Given the description of an element on the screen output the (x, y) to click on. 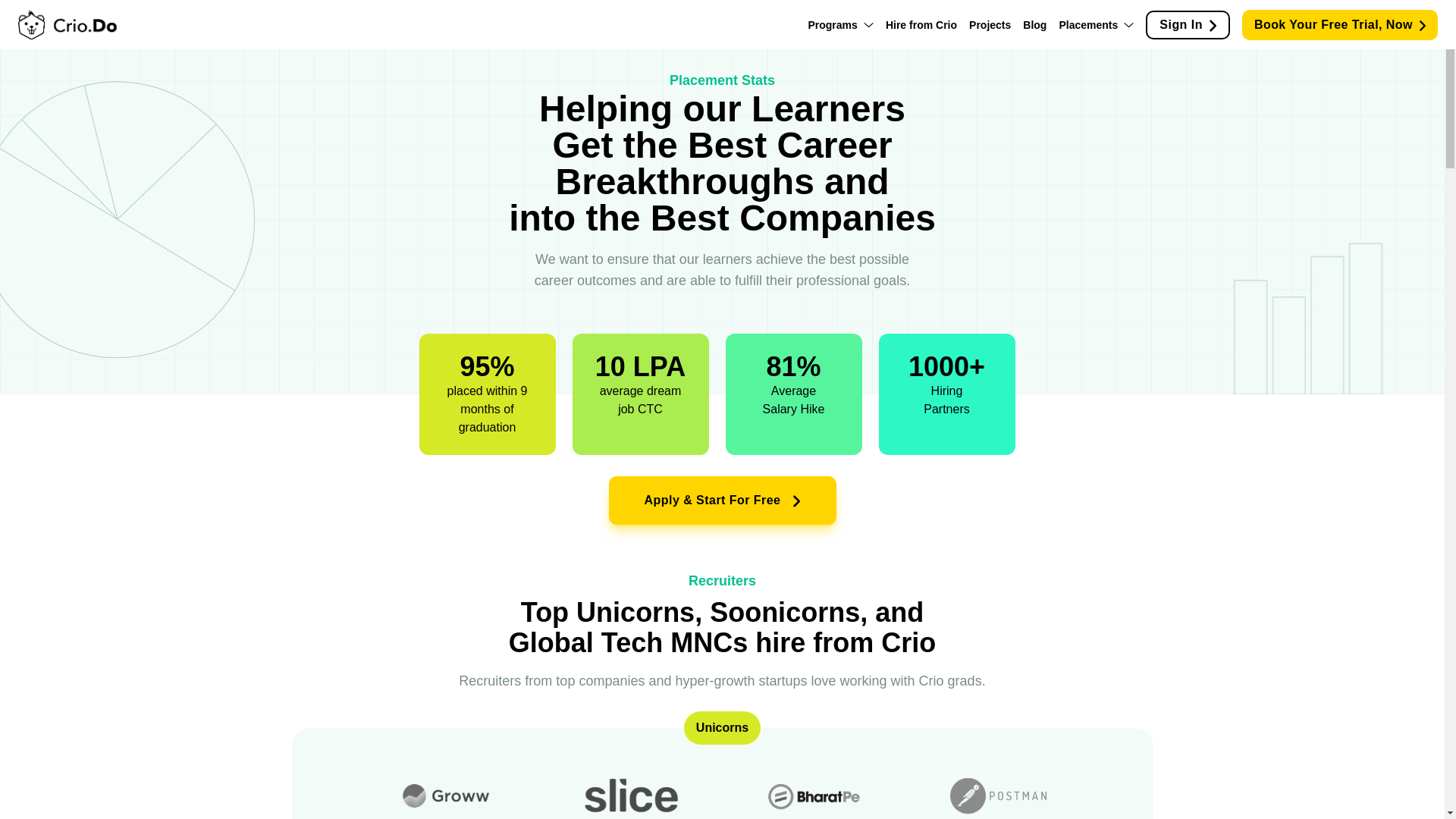
Hire from Crio (920, 23)
Book Your Free Trial, Now (1339, 24)
Blog (1034, 23)
Projects (989, 23)
Sign In (1187, 24)
